Given the description of an element on the screen output the (x, y) to click on. 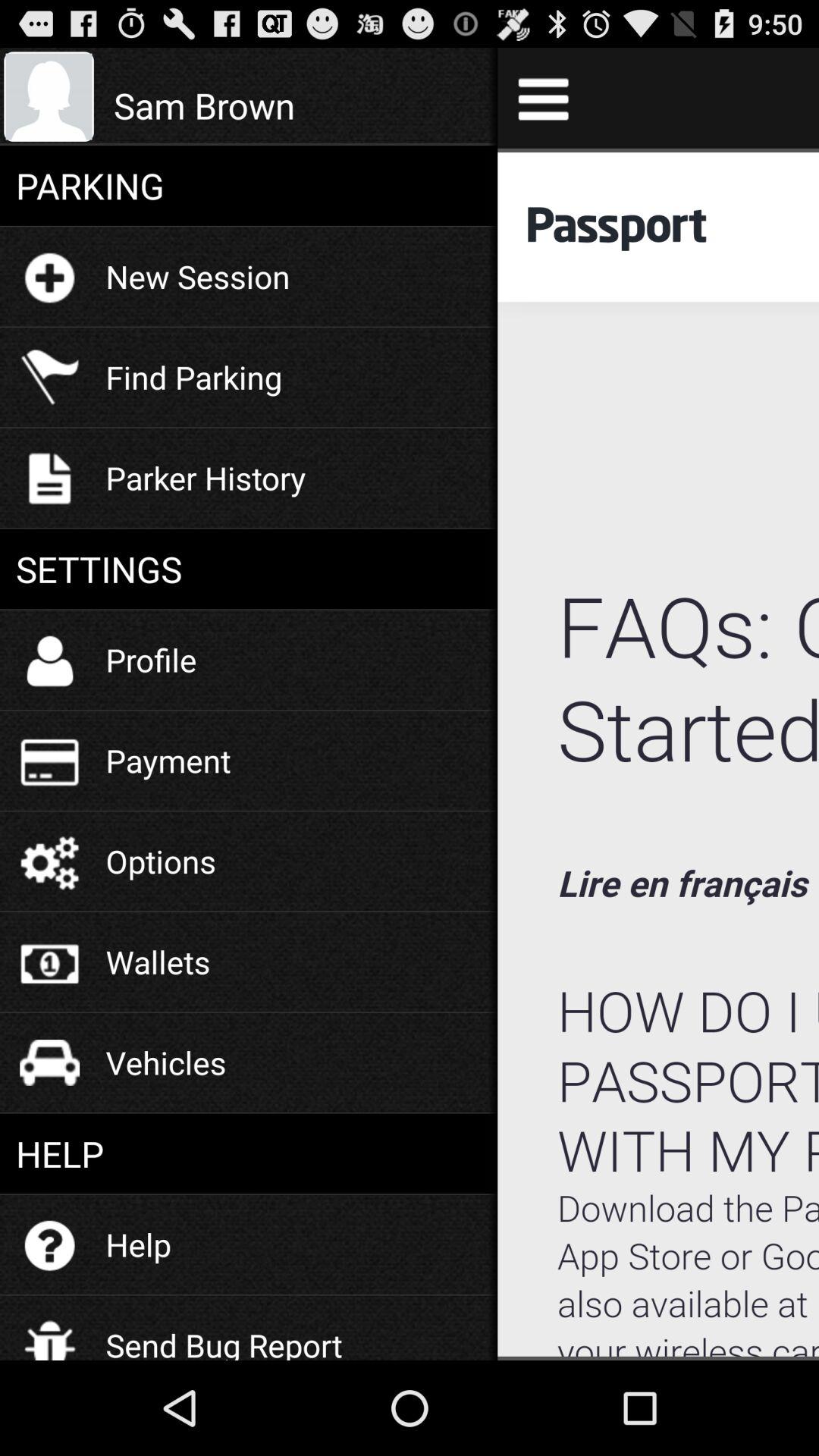
choose find parking icon (193, 376)
